Given the description of an element on the screen output the (x, y) to click on. 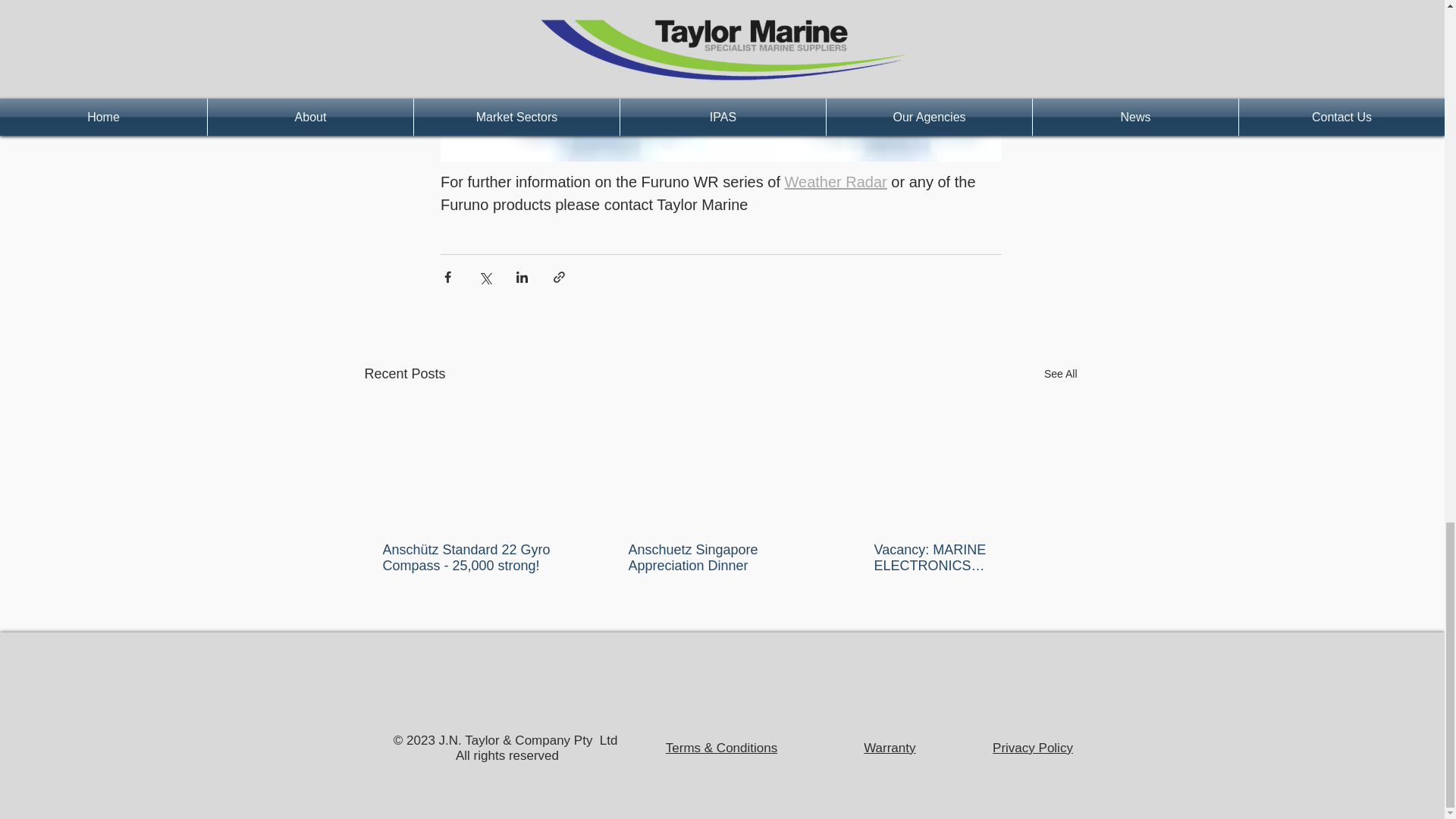
Privacy Policy (1032, 748)
See All (1060, 373)
Warranty (889, 748)
Weather Radar (835, 181)
Anschuetz Singapore Appreciation Dinner (718, 558)
Vacancy: MARINE ELECTRONICS TECHNICIAN - BRISBANE (965, 558)
